Given the description of an element on the screen output the (x, y) to click on. 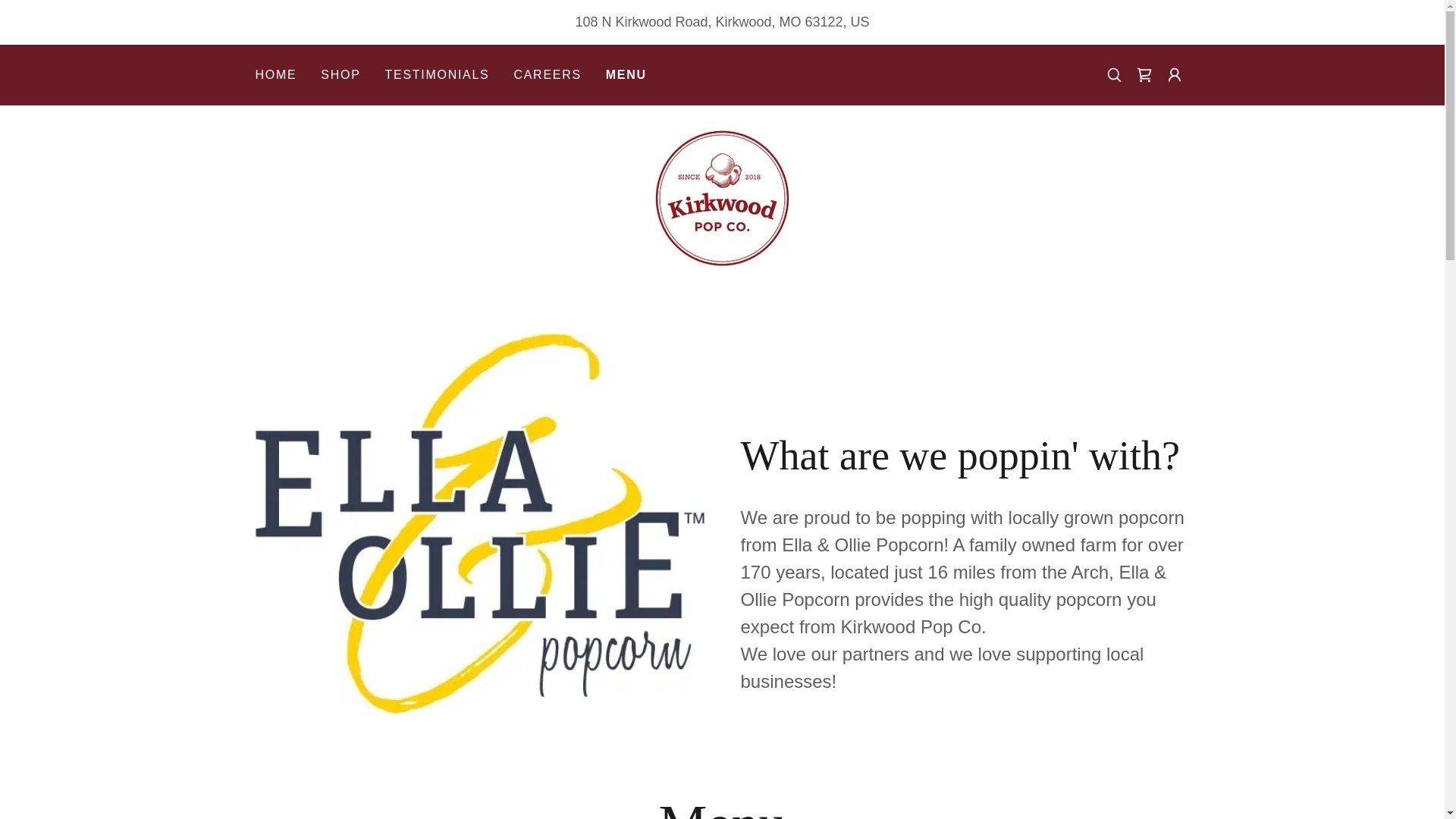
TESTIMONIALS (437, 74)
SHOP (340, 74)
HOME (275, 74)
CAREERS (546, 74)
MENU (625, 75)
Kirkwood Pop Co. (721, 196)
